Given the description of an element on the screen output the (x, y) to click on. 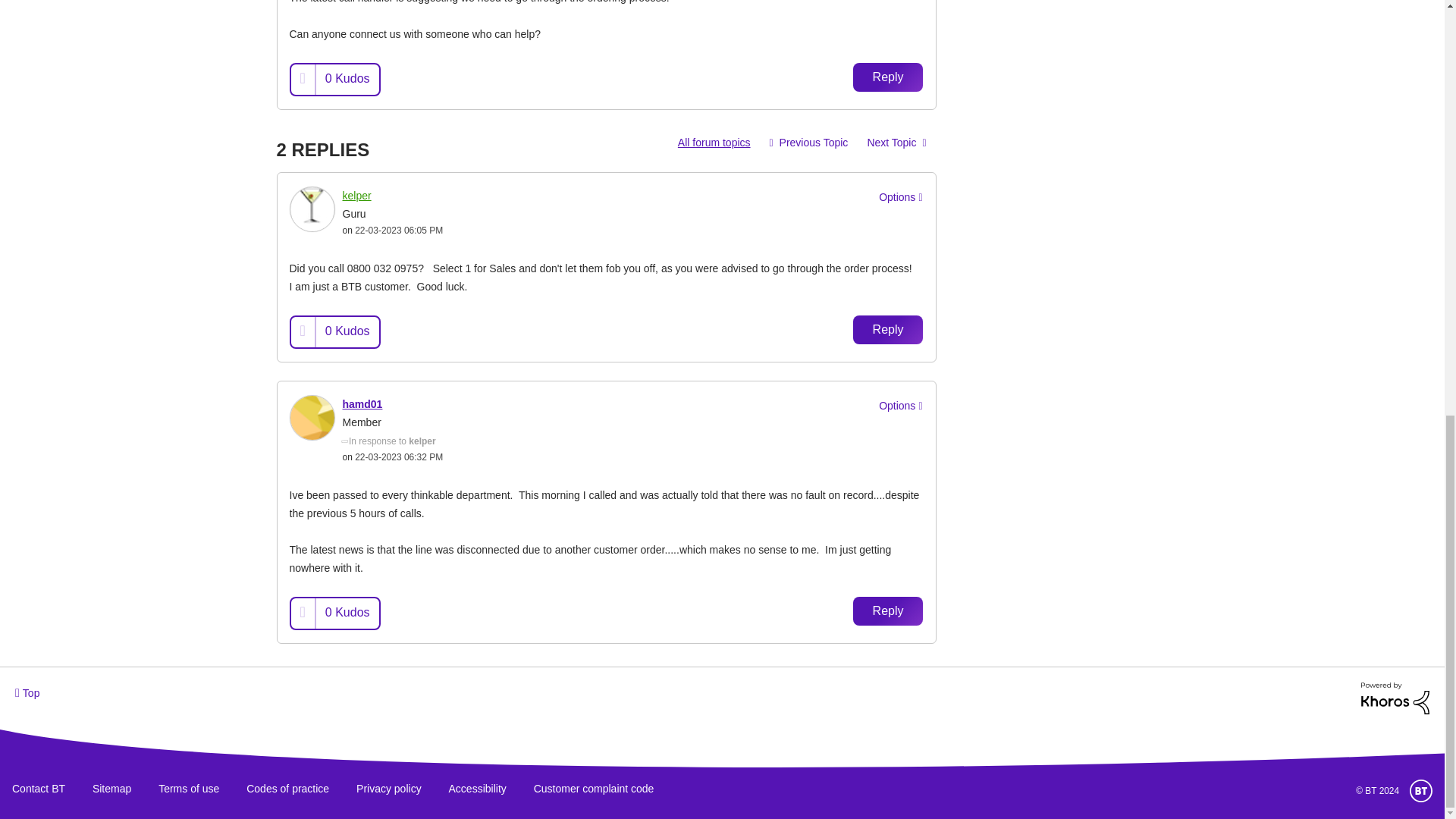
All forum topics (714, 142)
kelper (311, 208)
hamd01 (311, 417)
The total number of kudos this post has received. (346, 330)
Top (27, 692)
Issue with assigned IP address from the BT Business router (809, 142)
Reply (888, 77)
The total number of kudos this post has received. (346, 78)
Show option menu (898, 405)
Top (27, 692)
Broadband (714, 142)
Capped upload speeds (896, 142)
Show option menu (898, 197)
